Given the description of an element on the screen output the (x, y) to click on. 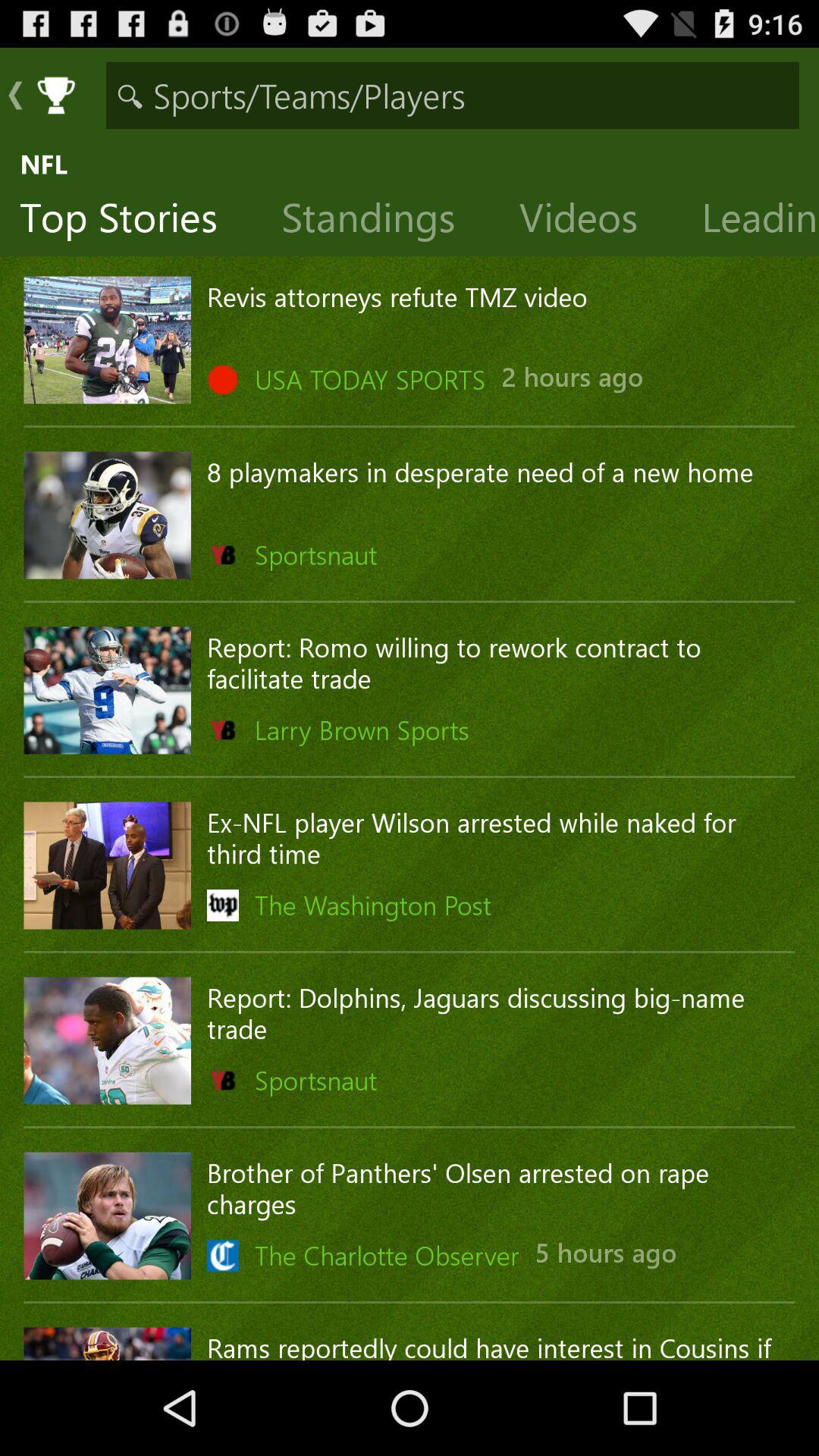
press the icon below nfl item (130, 220)
